Given the description of an element on the screen output the (x, y) to click on. 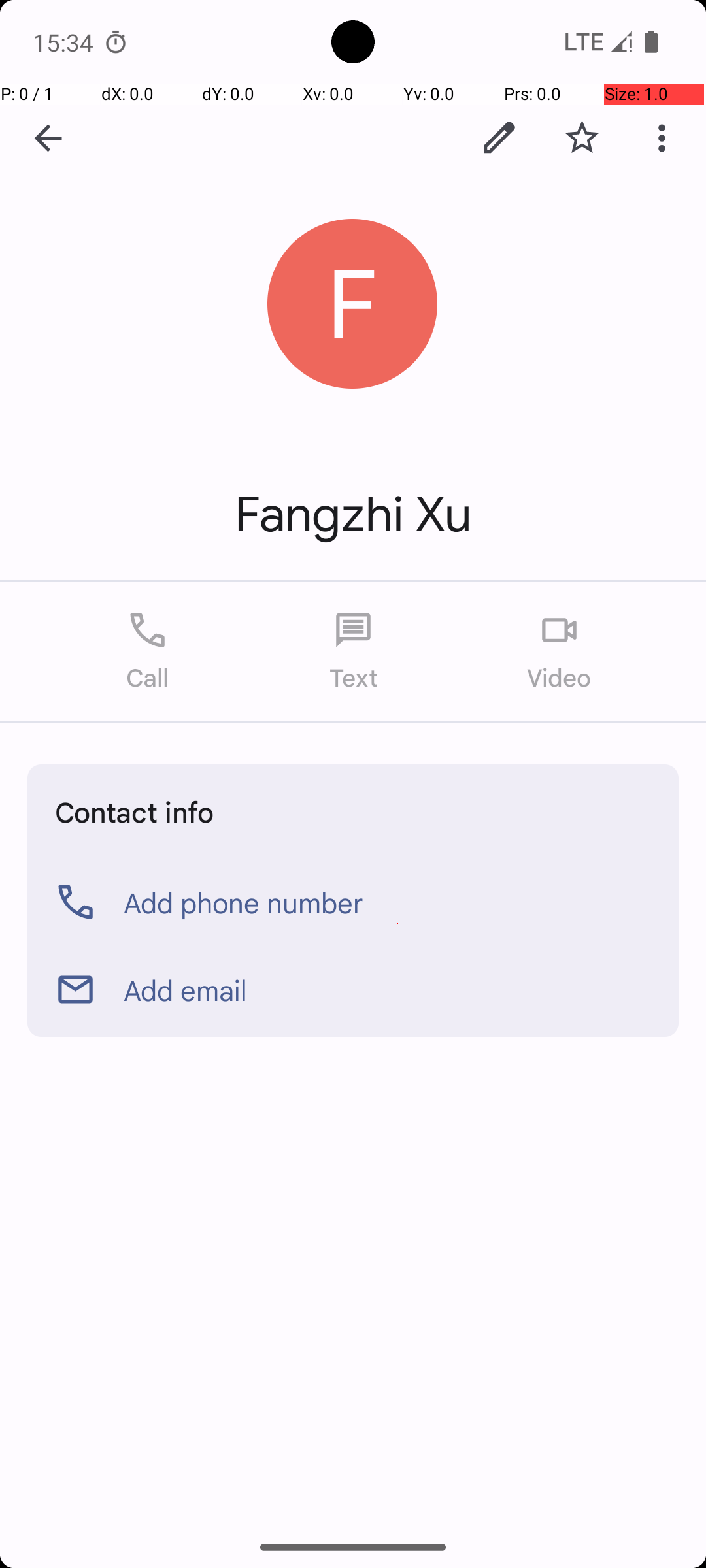
Edit contact Element type: android.widget.Button (498, 137)
Add to favorites Element type: android.widget.Button (581, 137)
Contact photo Element type: android.widget.ImageView (352, 303)
Text Element type: android.widget.TextView (353, 651)
Fangzhi Xu Element type: android.widget.TextView (352, 514)
Contact info Element type: android.widget.TextView (134, 811)
Add phone number Element type: android.widget.TextView (243, 901)
Add email Element type: android.widget.TextView (185, 989)
